Given the description of an element on the screen output the (x, y) to click on. 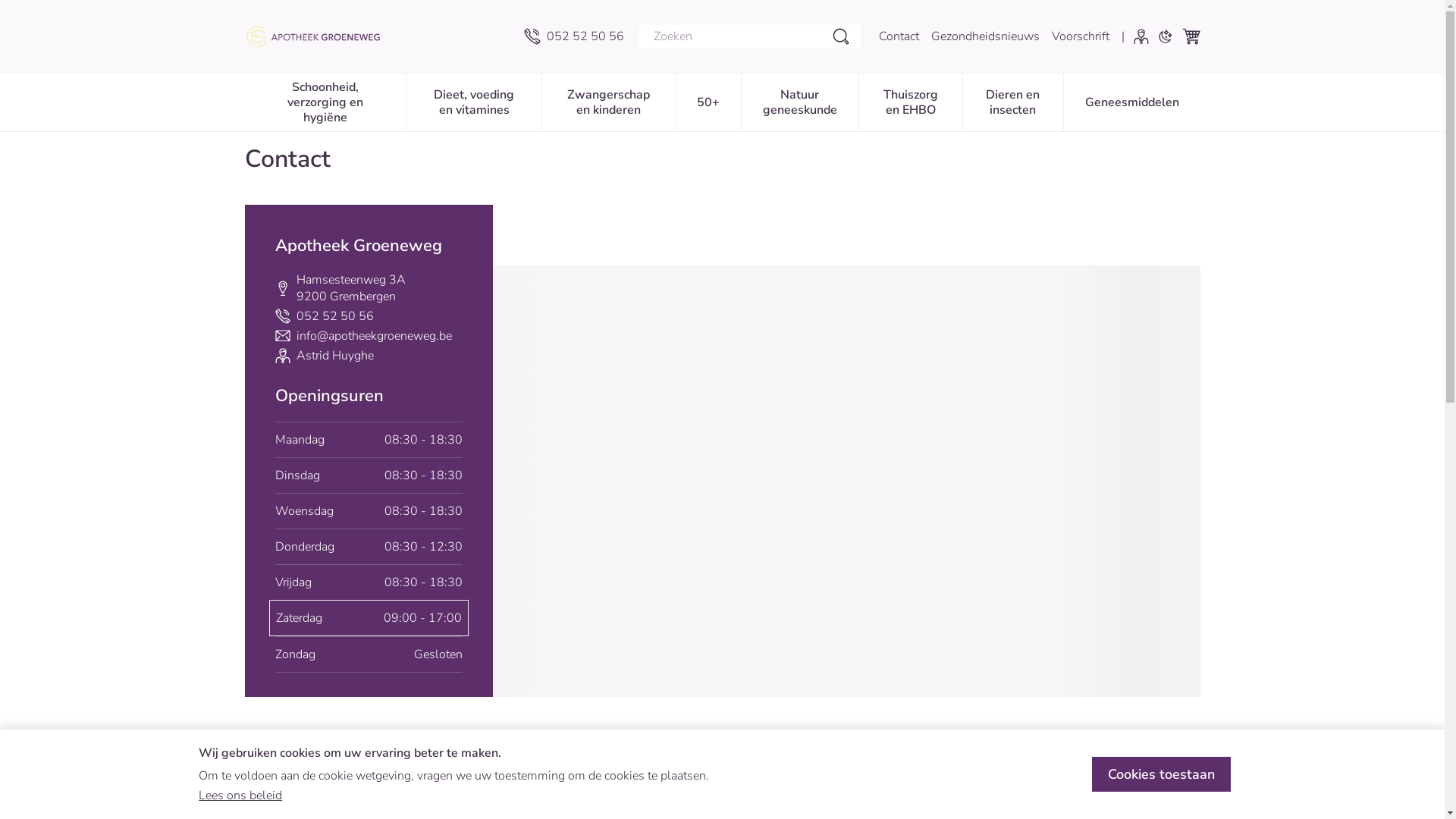
Apotheek Groeneweg Element type: hover (319, 36)
Contact Element type: text (898, 36)
Geneesmiddelen Element type: text (1131, 100)
Natuur geneeskunde Element type: text (799, 100)
052 52 50 56 Element type: text (573, 36)
Donkere modus Element type: text (1164, 35)
Voorschrift Element type: text (1079, 36)
Winkelwagen Element type: text (1190, 36)
Klant menu Element type: text (1140, 35)
Lees ons beleid Element type: text (240, 795)
Gezondheidsnieuws Element type: text (985, 36)
Dieet, voeding en vitamines Element type: text (473, 100)
Cookies toestaan Element type: text (1161, 773)
Apotheek Groeneweg Element type: hover (377, 36)
Zwangerschap en kinderen Element type: text (608, 100)
50+ Element type: text (707, 100)
Zoeken Element type: text (840, 36)
Thuiszorg en EHBO Element type: text (910, 100)
Dieren en insecten Element type: text (1013, 100)
info@apotheekgroeneweg.be Element type: text (373, 335)
